Given the description of an element on the screen output the (x, y) to click on. 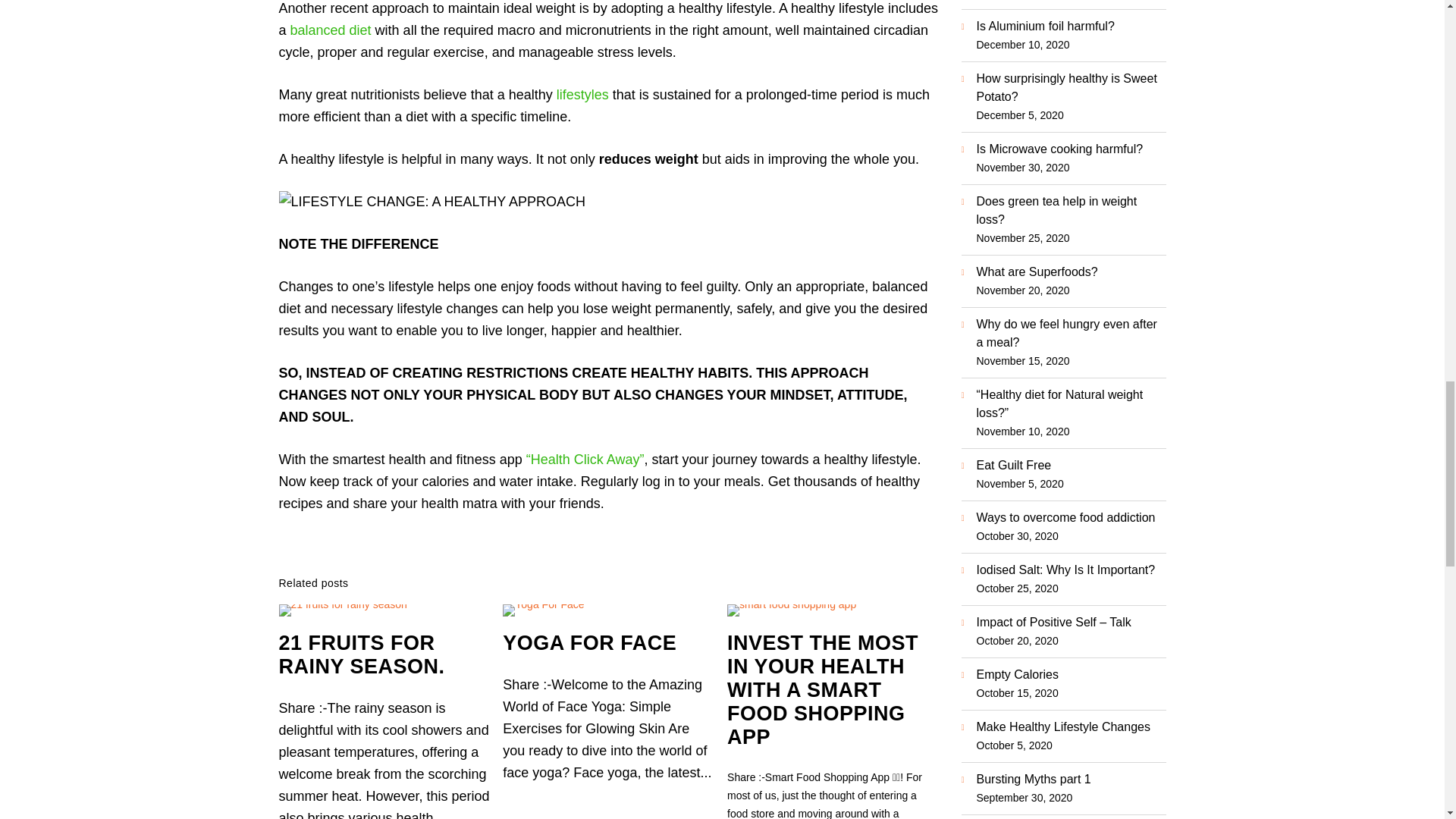
balanced diet (330, 29)
lifestyles (584, 94)
21 FRUITS FOR RAINY SEASON. (362, 654)
